Given the description of an element on the screen output the (x, y) to click on. 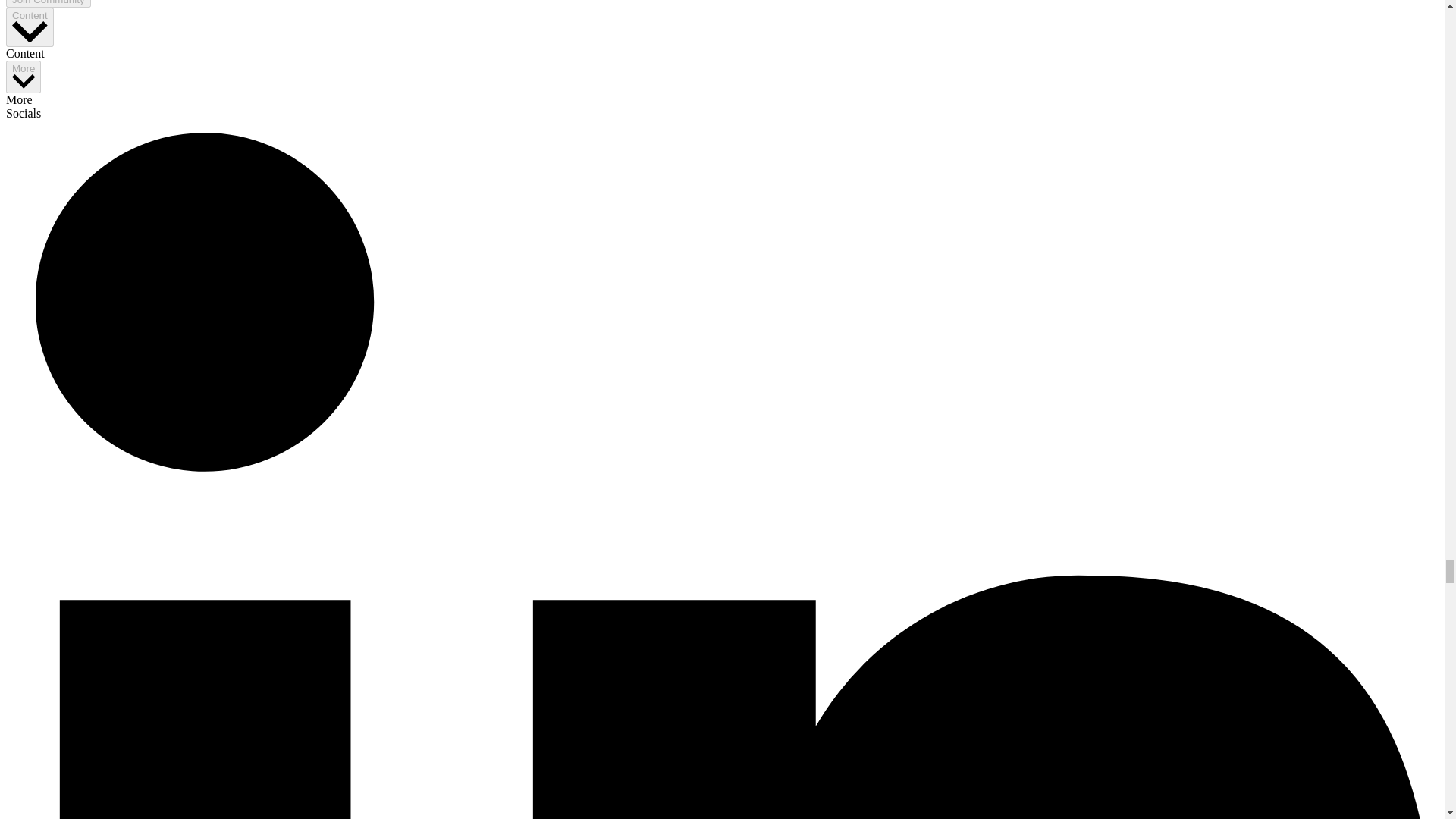
Join Community (47, 3)
Content (29, 27)
More (22, 76)
